Given the description of an element on the screen output the (x, y) to click on. 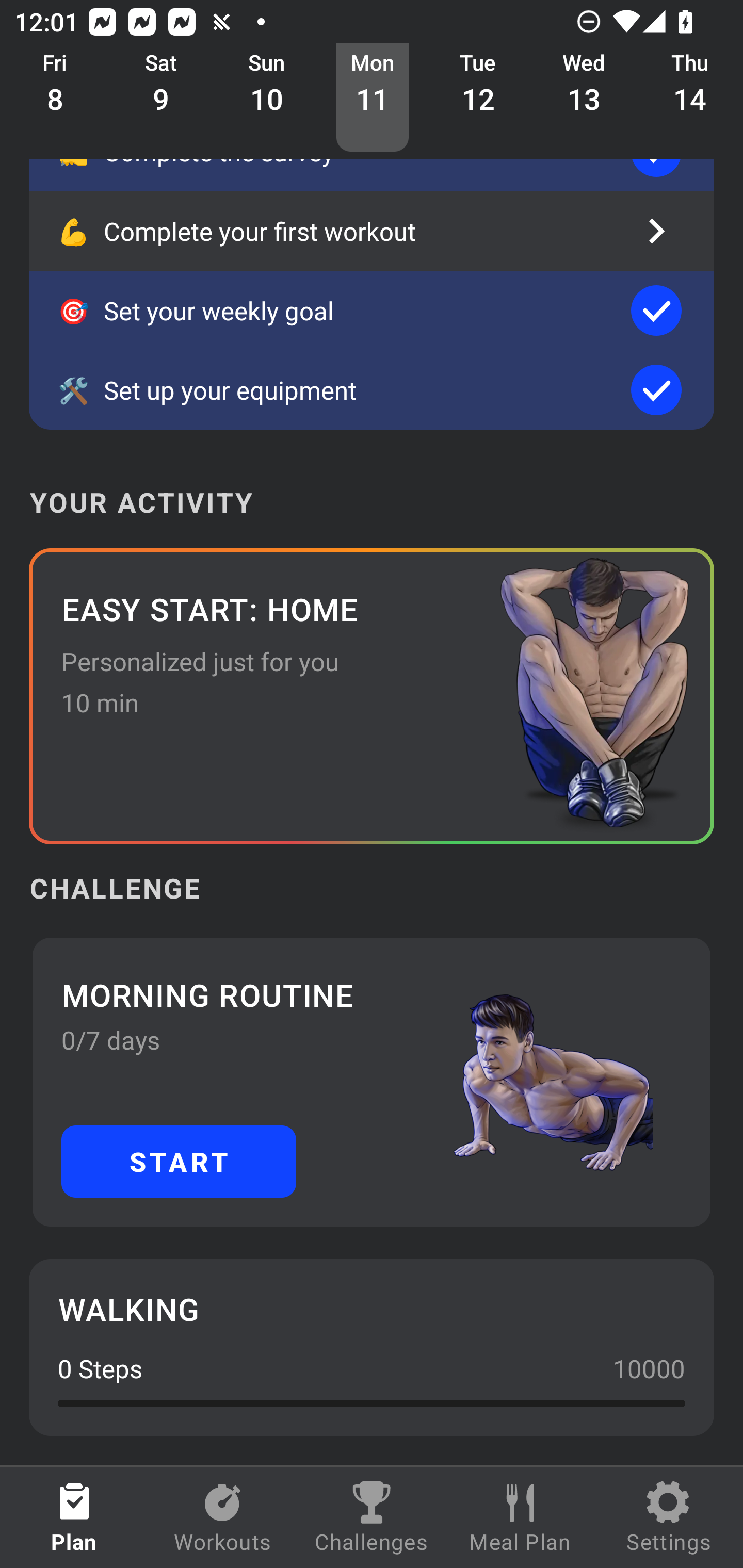
Fri 8 (55, 97)
Sat 9 (160, 97)
Sun 10 (266, 97)
Mon 11 (372, 97)
Tue 12 (478, 97)
Wed 13 (584, 97)
Thu 14 (690, 97)
💪 Complete your first workout (371, 231)
EASY START: HOME Personalized just for you 10 min (371, 695)
MORNING ROUTINE 0/7 days START (371, 1082)
START (178, 1161)
WALKING 0 Steps 10000 0.0 (371, 1347)
 Workouts  (222, 1517)
 Challenges  (371, 1517)
 Meal Plan  (519, 1517)
 Settings  (668, 1517)
